Given the description of an element on the screen output the (x, y) to click on. 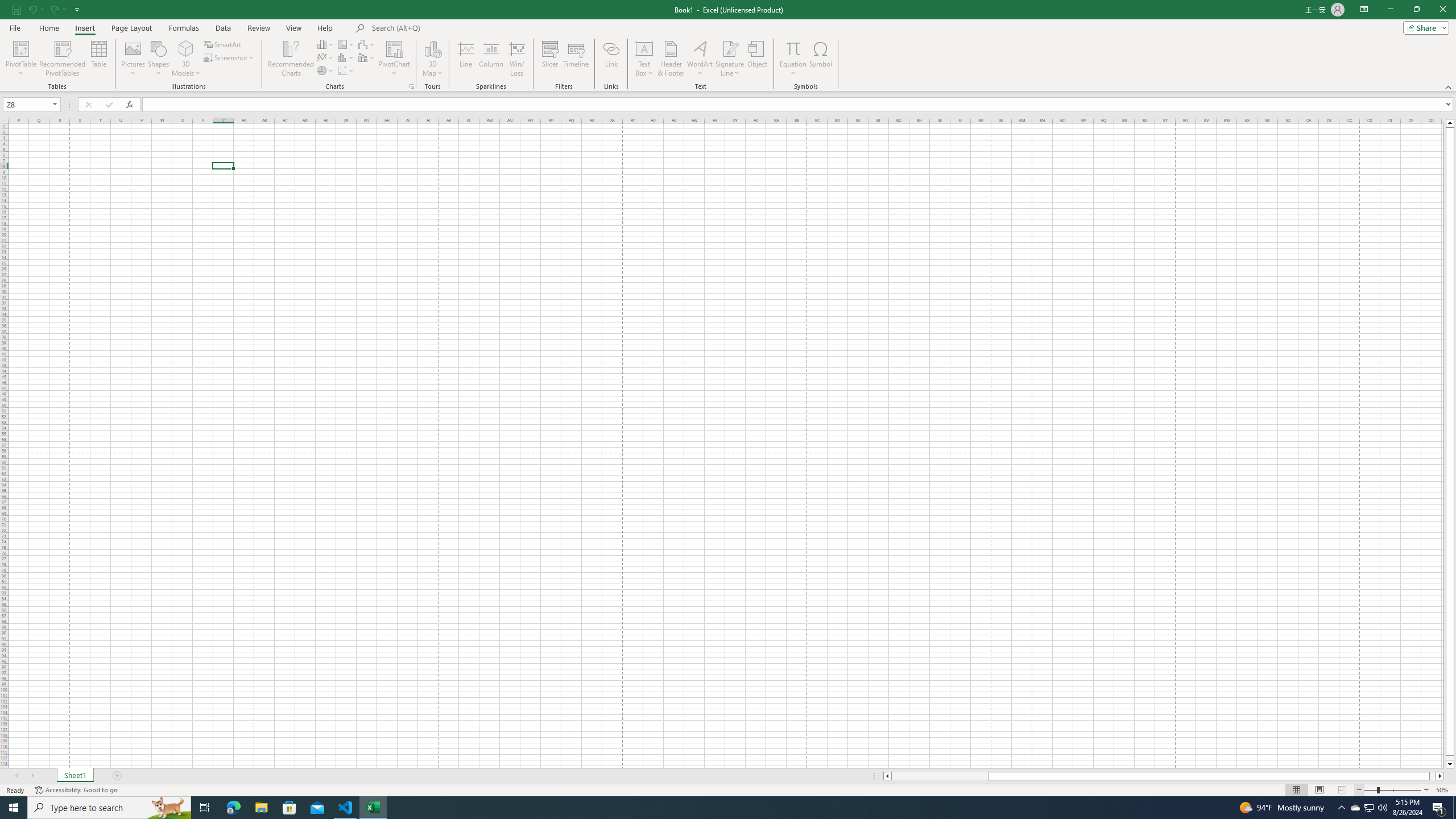
WordArt (699, 58)
Recommended Charts (411, 85)
Equation (793, 48)
Symbol... (821, 58)
Line (465, 58)
Insert Combo Chart (366, 56)
PivotChart (394, 48)
